Given the description of an element on the screen output the (x, y) to click on. 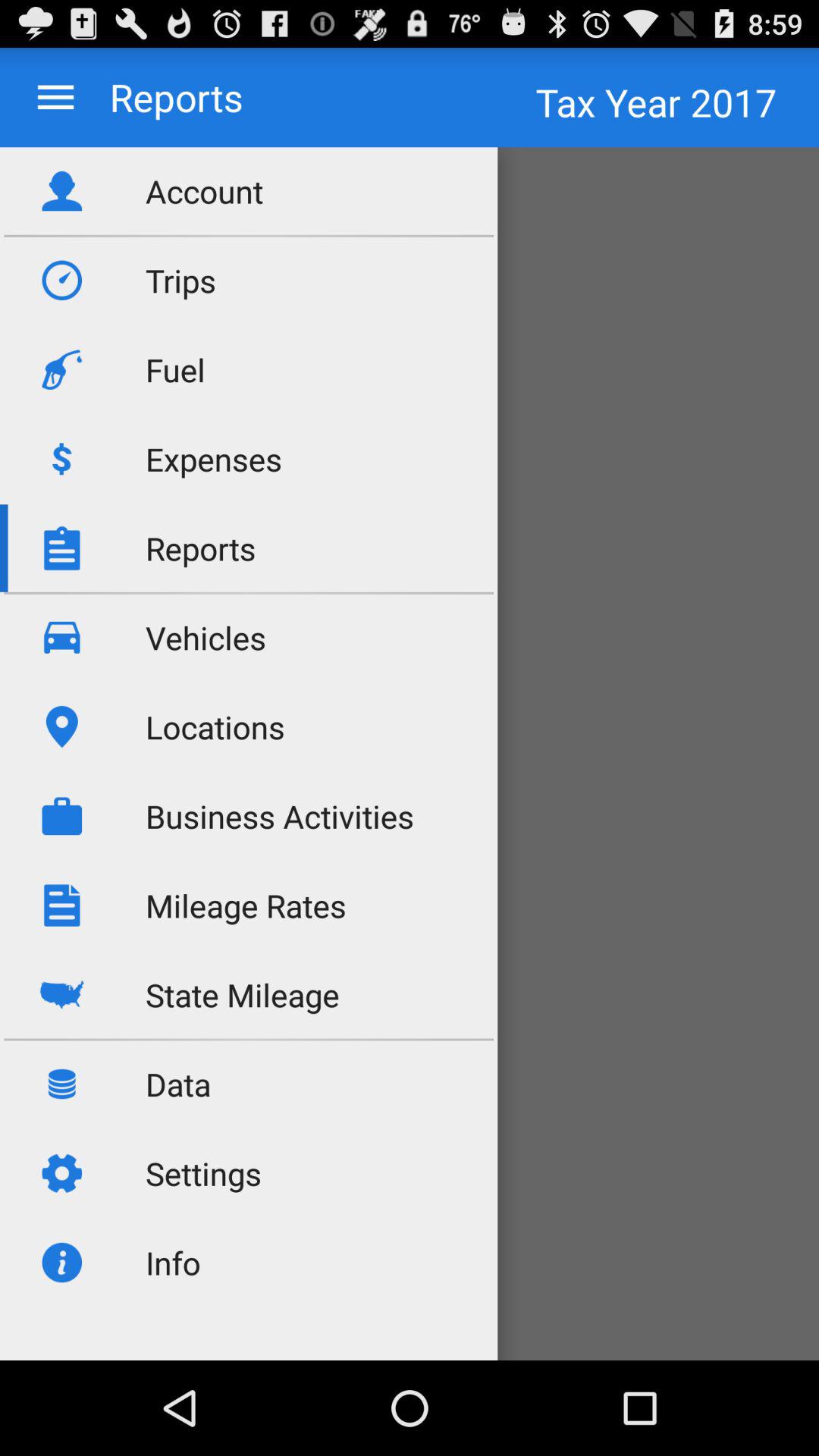
jump to the account icon (204, 190)
